Given the description of an element on the screen output the (x, y) to click on. 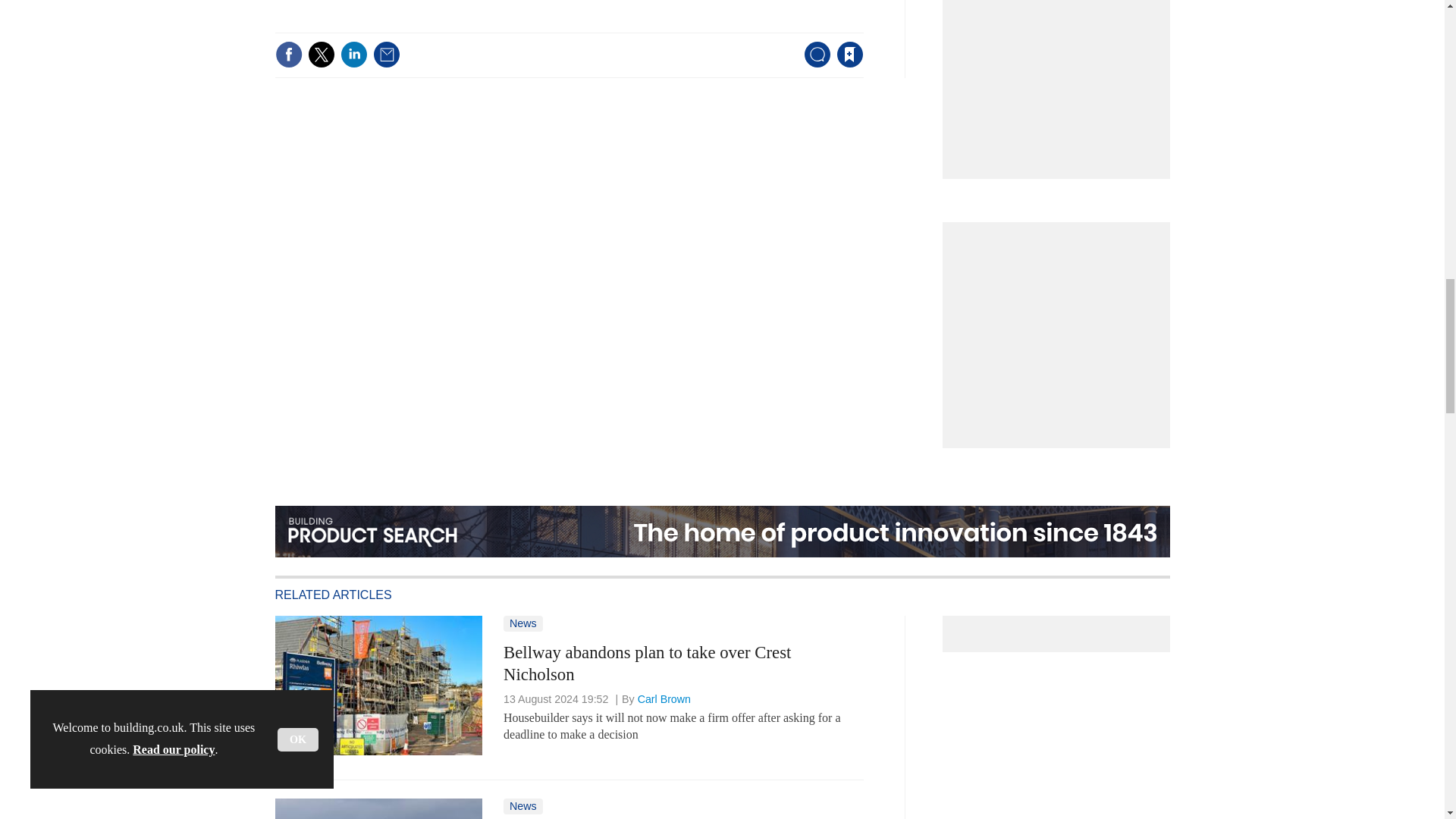
Share this on Twitter (320, 53)
3rd party ad content (1059, 327)
Email this article (386, 53)
No comments (812, 63)
Share this on Facebook (288, 53)
Share this on Linked in (352, 53)
3rd party ad content (1059, 76)
